Given the description of an element on the screen output the (x, y) to click on. 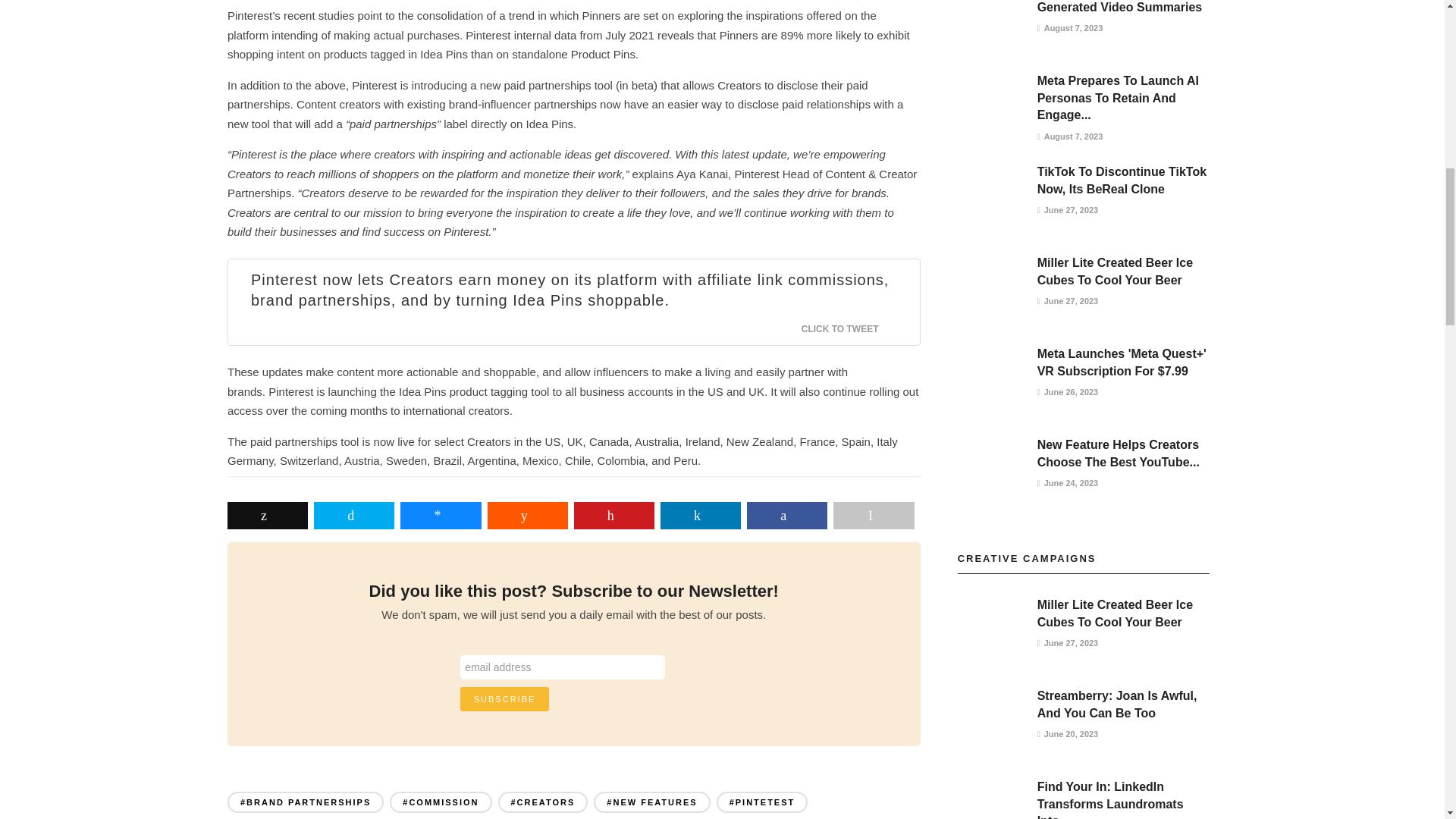
Share on Facebook Messenger (440, 515)
Share on Twitter (354, 515)
Subscribe (505, 699)
Share on Buffer (267, 515)
